Given the description of an element on the screen output the (x, y) to click on. 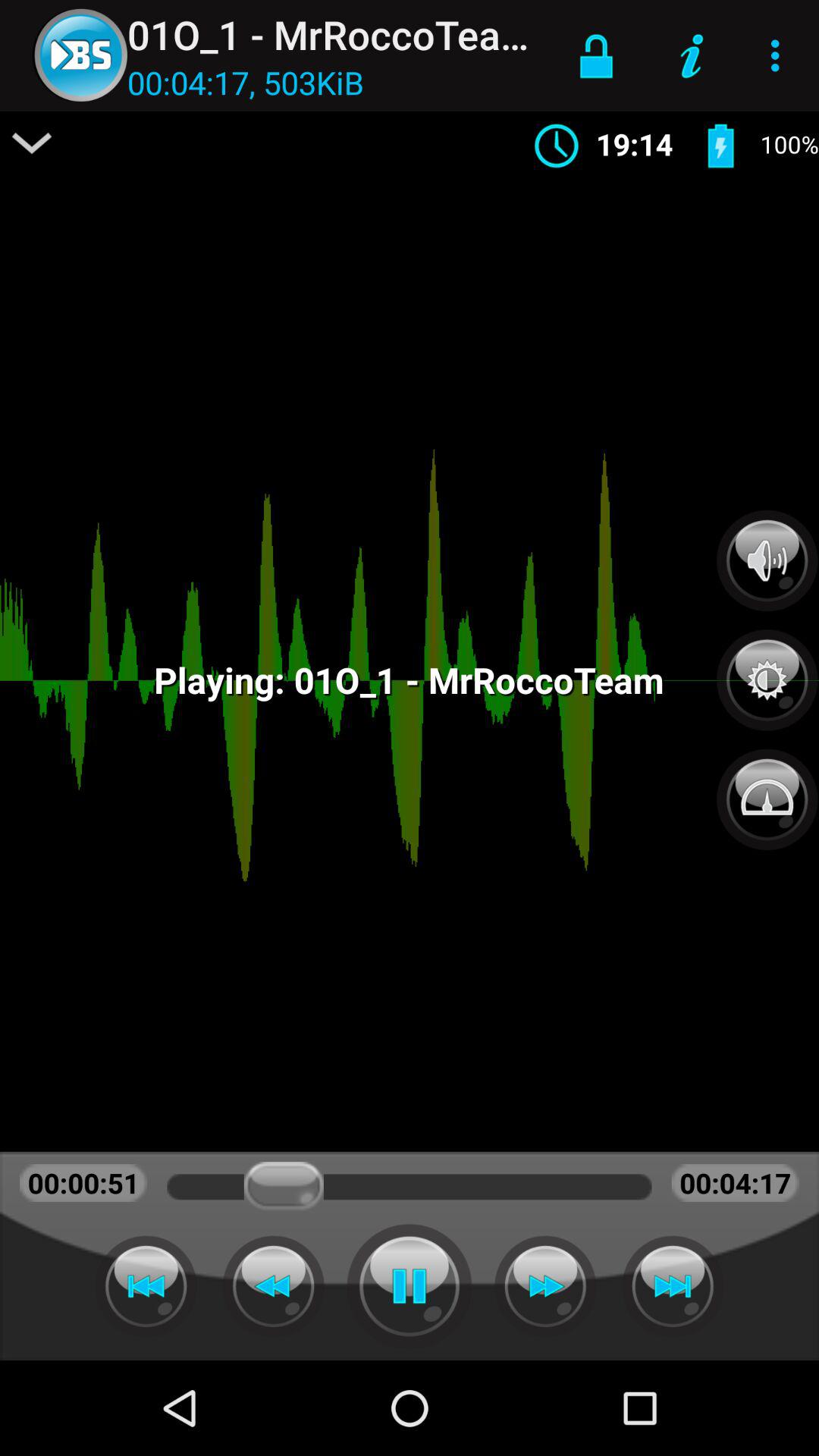
rewind (273, 1286)
